Given the description of an element on the screen output the (x, y) to click on. 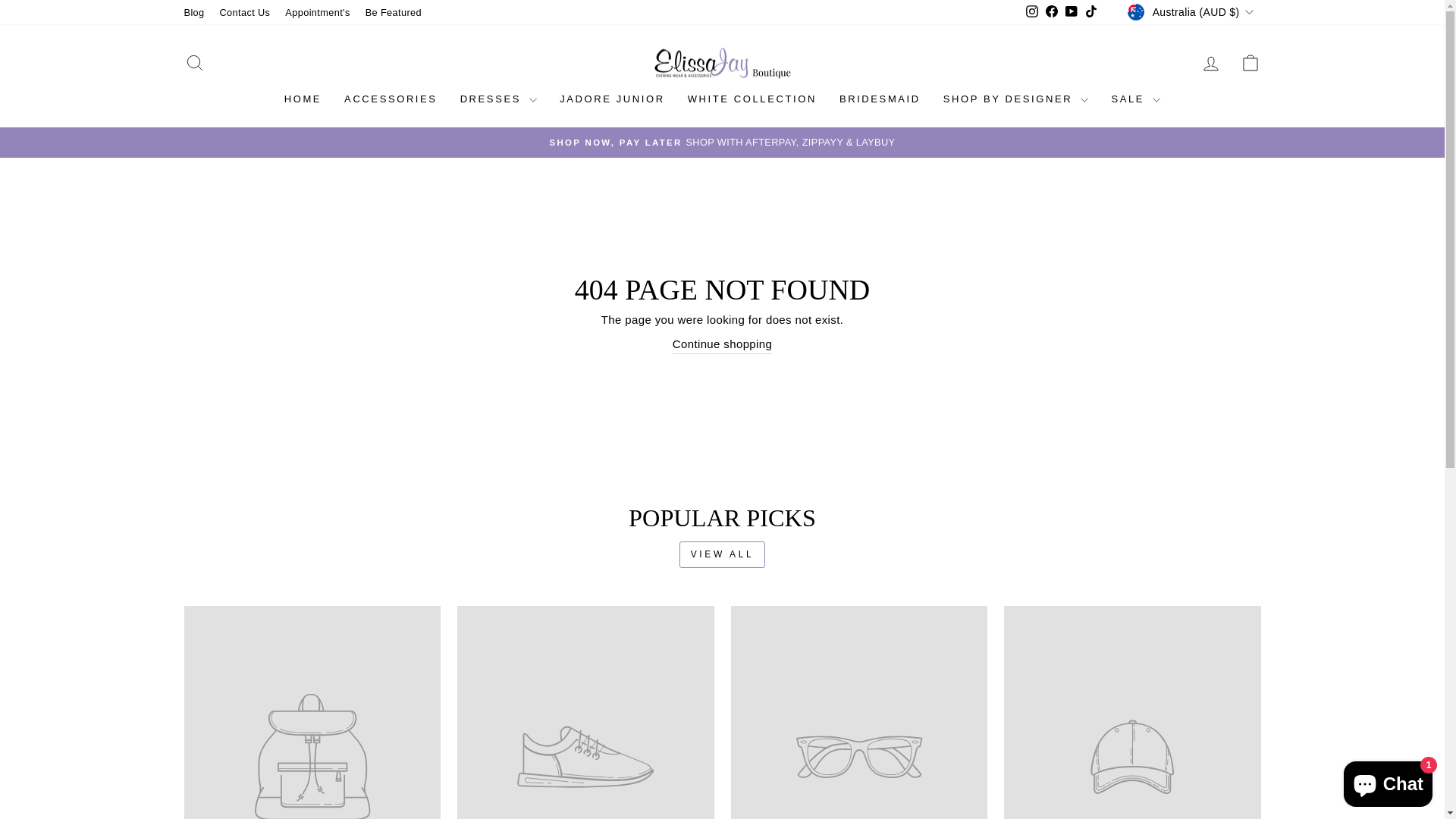
JADORE JUNIOR Element type: text (612, 99)
Facebook Element type: text (1051, 12)
ACCOUNT
LOG IN Element type: text (1210, 63)
Shopify online store chat Element type: hover (1388, 780)
WHITE COLLECTION Element type: text (752, 99)
Continue shopping Element type: text (721, 344)
HOME Element type: text (302, 99)
TikTok Element type: text (1091, 12)
ICON-SEARCH
SEARCH Element type: text (193, 63)
Appointment's Element type: text (317, 12)
VIEW ALL Element type: text (722, 554)
Contact Us Element type: text (245, 12)
Be Featured Element type: text (393, 12)
YouTube Element type: text (1071, 12)
WE ARE OPEN BY APPOINTMENT ONLY. CLICK HERE TO BOOK Element type: text (722, 141)
BRIDESMAID Element type: text (879, 99)
Blog Element type: text (193, 12)
Australia (AUD $) Element type: text (1191, 12)
ACCESSORIES Element type: text (390, 99)
instagram
Instagram Element type: text (1031, 12)
ICON-BAG-MINIMAL
CART Element type: text (1249, 63)
